Given the description of an element on the screen output the (x, y) to click on. 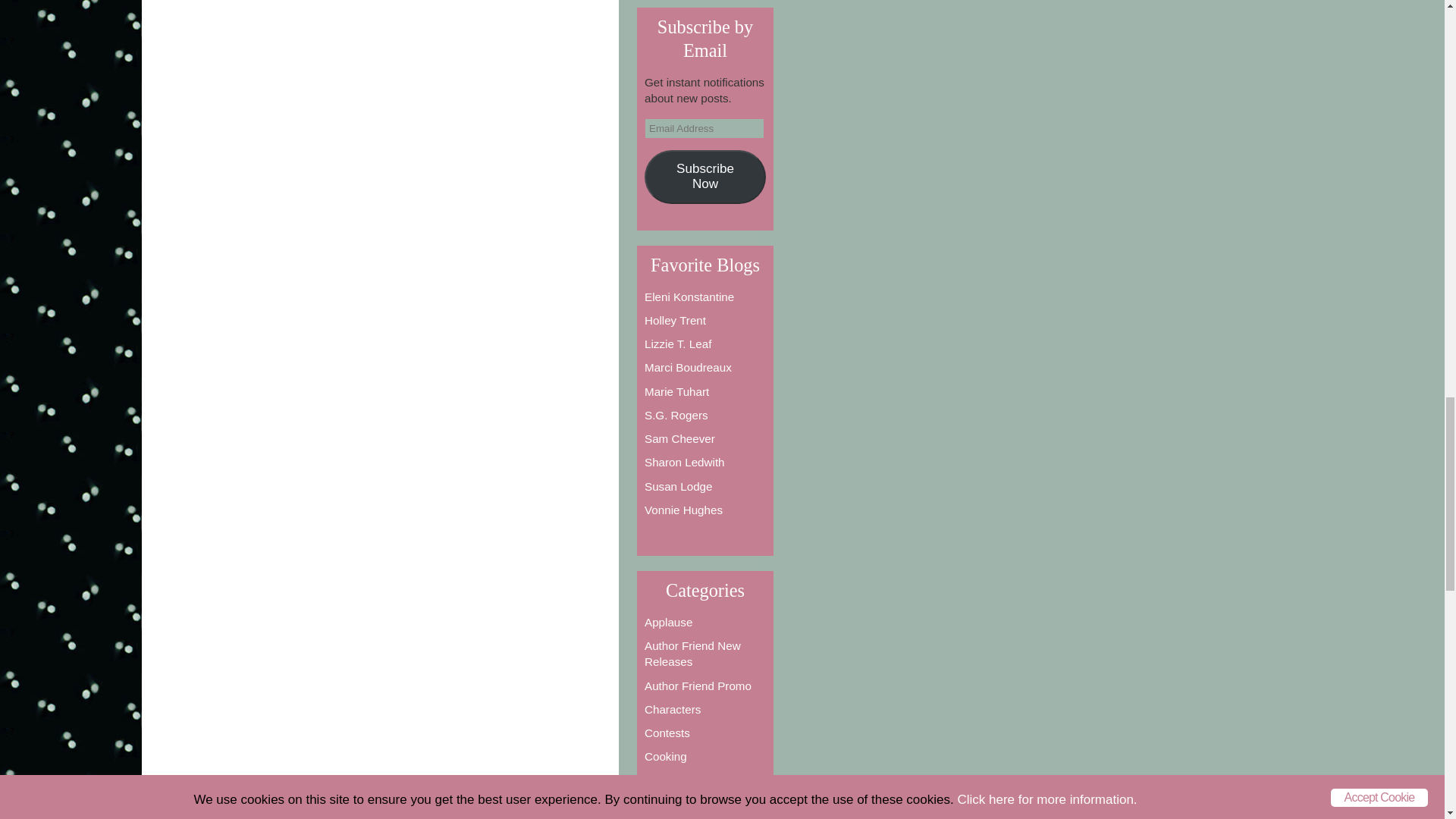
Lizzie T. Leaf (678, 343)
Eleni Konstantine (689, 296)
Holley Trent (675, 319)
Marci Boudreaux (688, 367)
Marie Tuhart (677, 391)
Subscribe Now (705, 176)
